Given the description of an element on the screen output the (x, y) to click on. 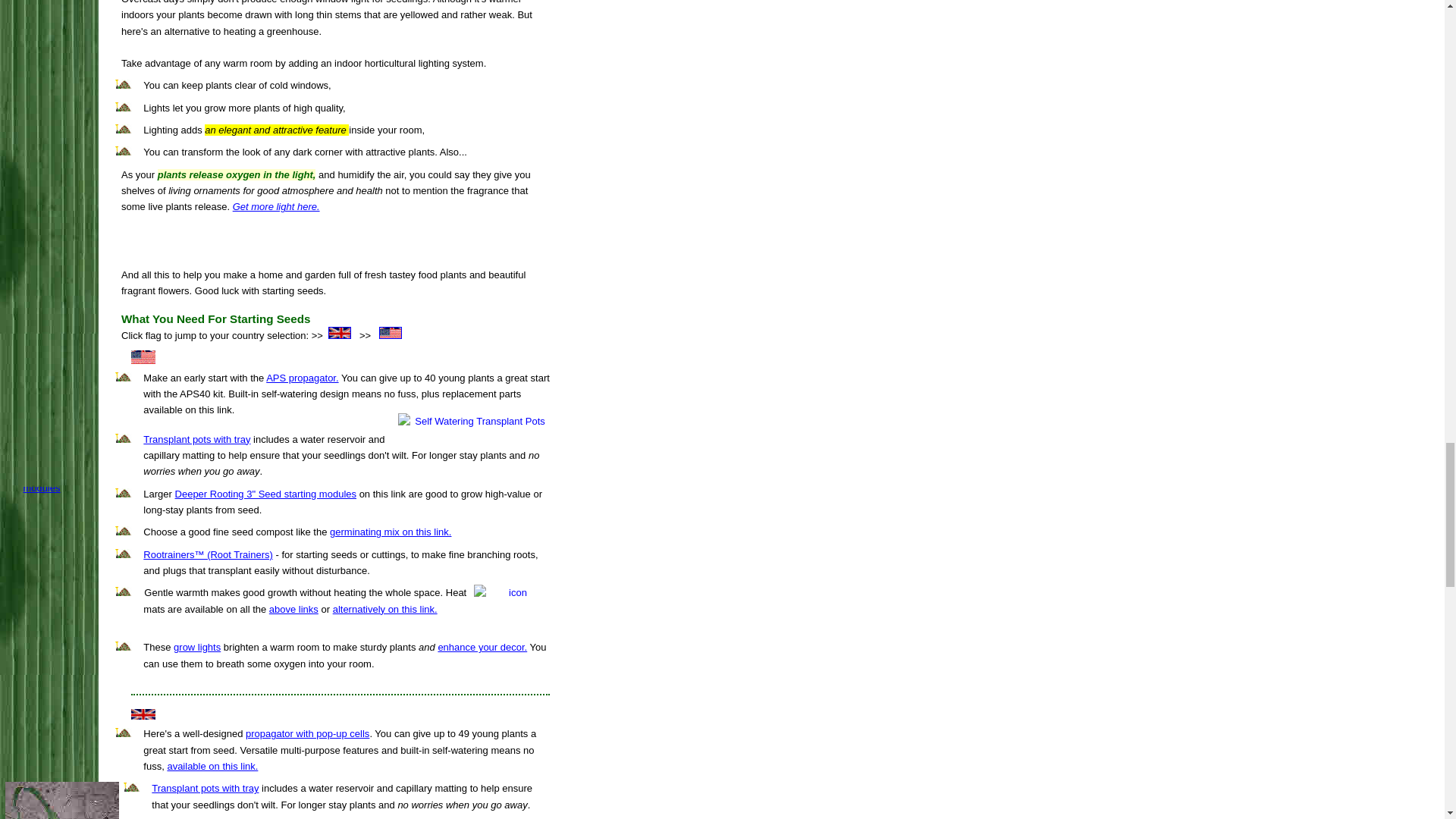
germinating mix on this link. (392, 531)
Advertisement (334, 233)
above links (293, 609)
Get more light here. (276, 206)
alternatively on this link. (385, 609)
Deeper Rooting 3" Seed starting modules (265, 493)
